Given the description of an element on the screen output the (x, y) to click on. 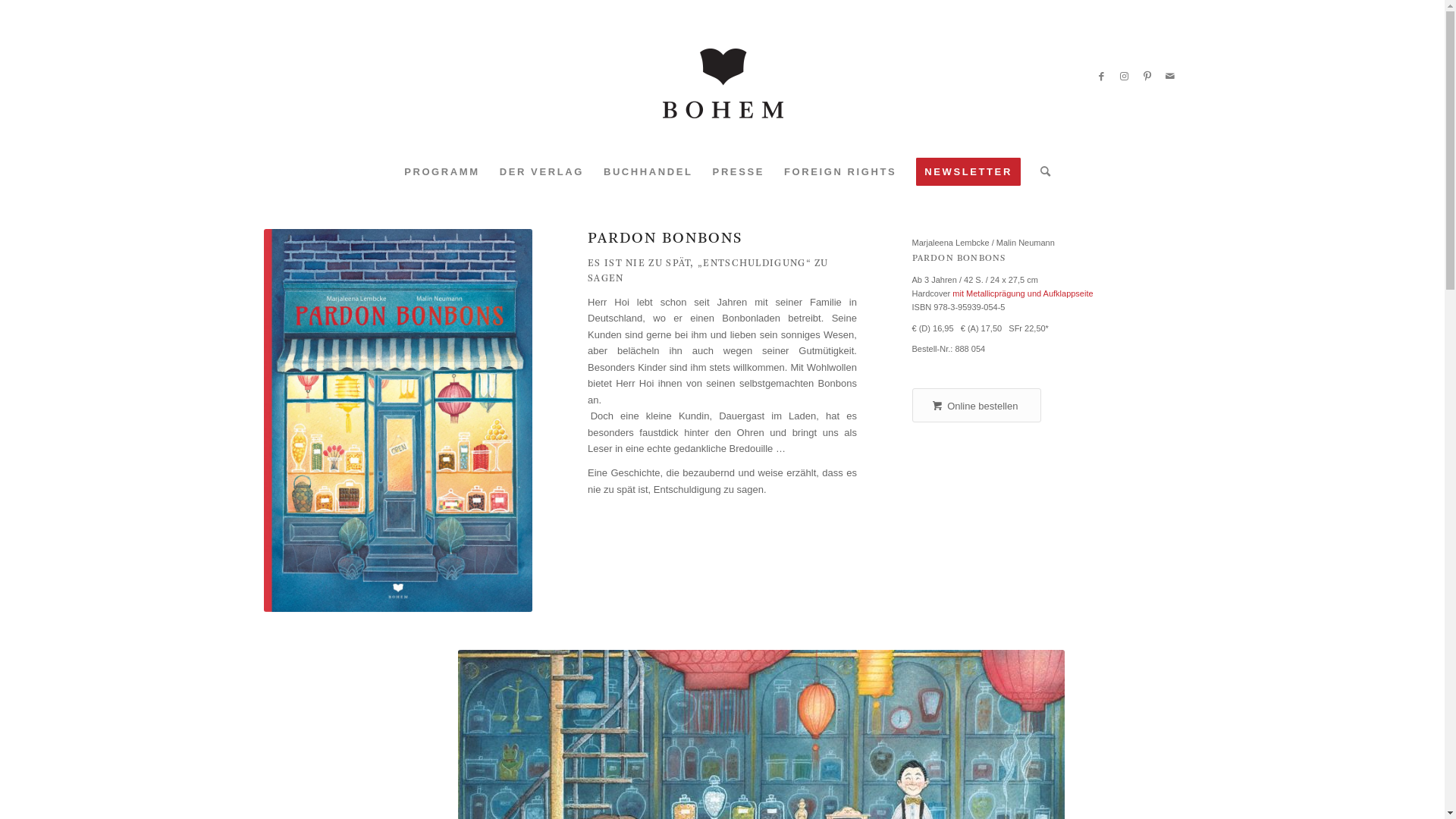
Mail Element type: hover (1169, 76)
Facebook Element type: hover (1101, 76)
PRESSE Element type: text (738, 172)
Online bestellen Element type: text (976, 405)
PROGRAMM Element type: text (441, 172)
logo-bohem Element type: hover (721, 76)
Pardon Bonbons (ISBN 978-3-95939-054-5) Element type: hover (398, 420)
DER VERLAG Element type: text (541, 172)
Instagram Element type: hover (1124, 76)
FOREIGN RIGHTS Element type: text (840, 172)
NEWSLETTER Element type: text (968, 172)
BUCHHANDEL Element type: text (647, 172)
Pinterest Element type: hover (1146, 76)
